Given the description of an element on the screen output the (x, y) to click on. 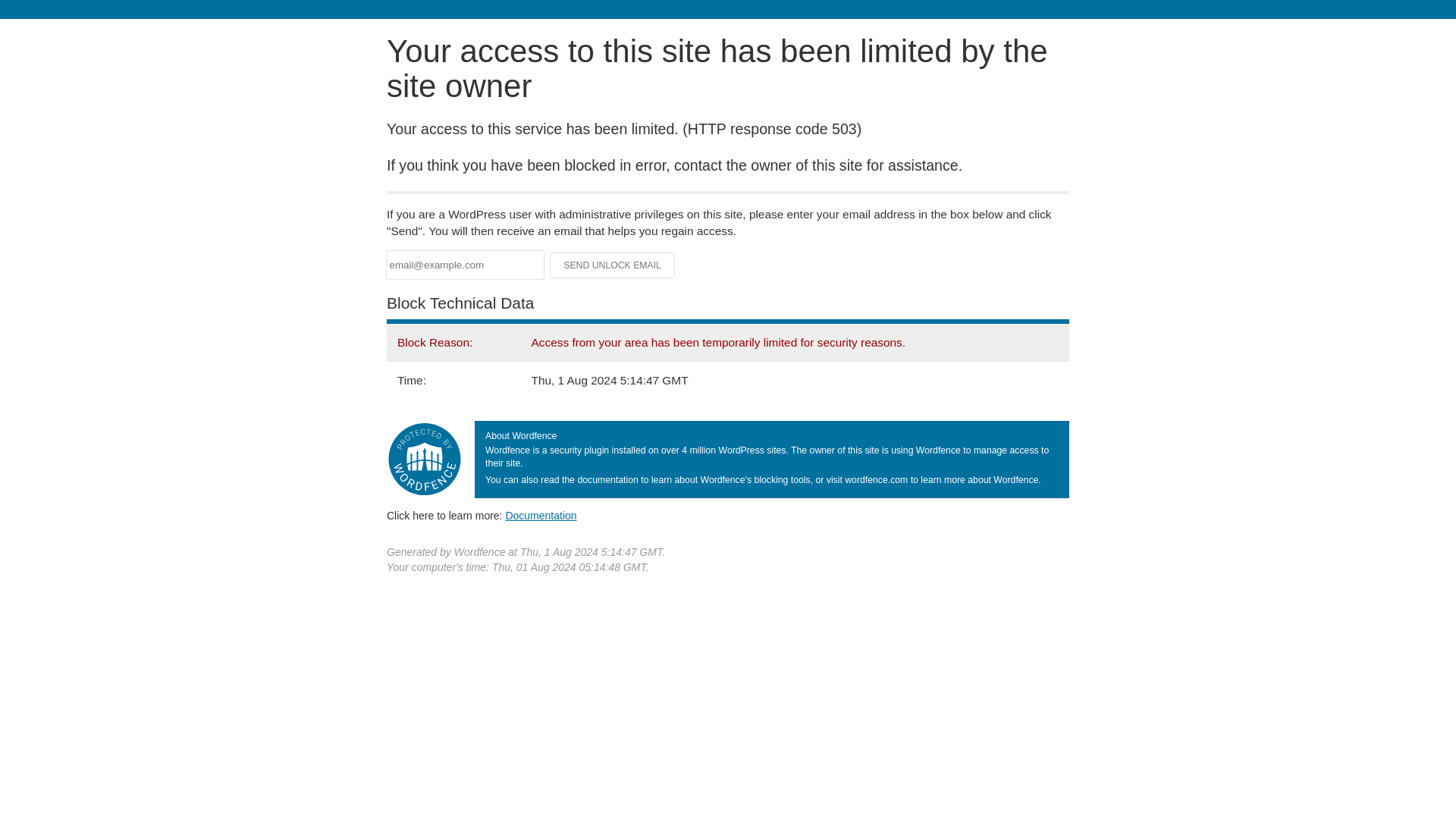
Send Unlock Email (612, 265)
Documentation (540, 515)
Send Unlock Email (612, 265)
